Given the description of an element on the screen output the (x, y) to click on. 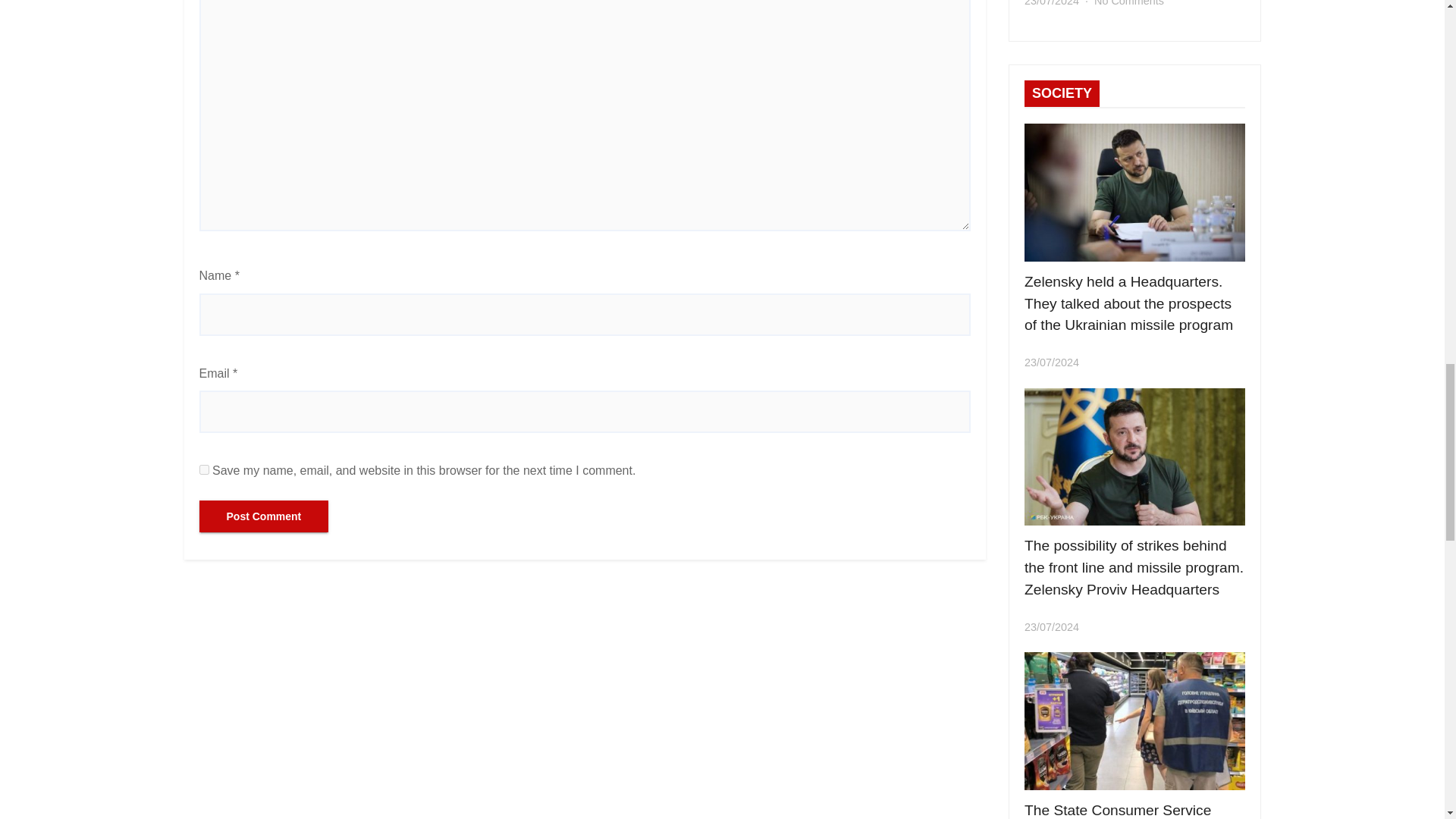
Post Comment (263, 516)
yes (203, 470)
